Given the description of an element on the screen output the (x, y) to click on. 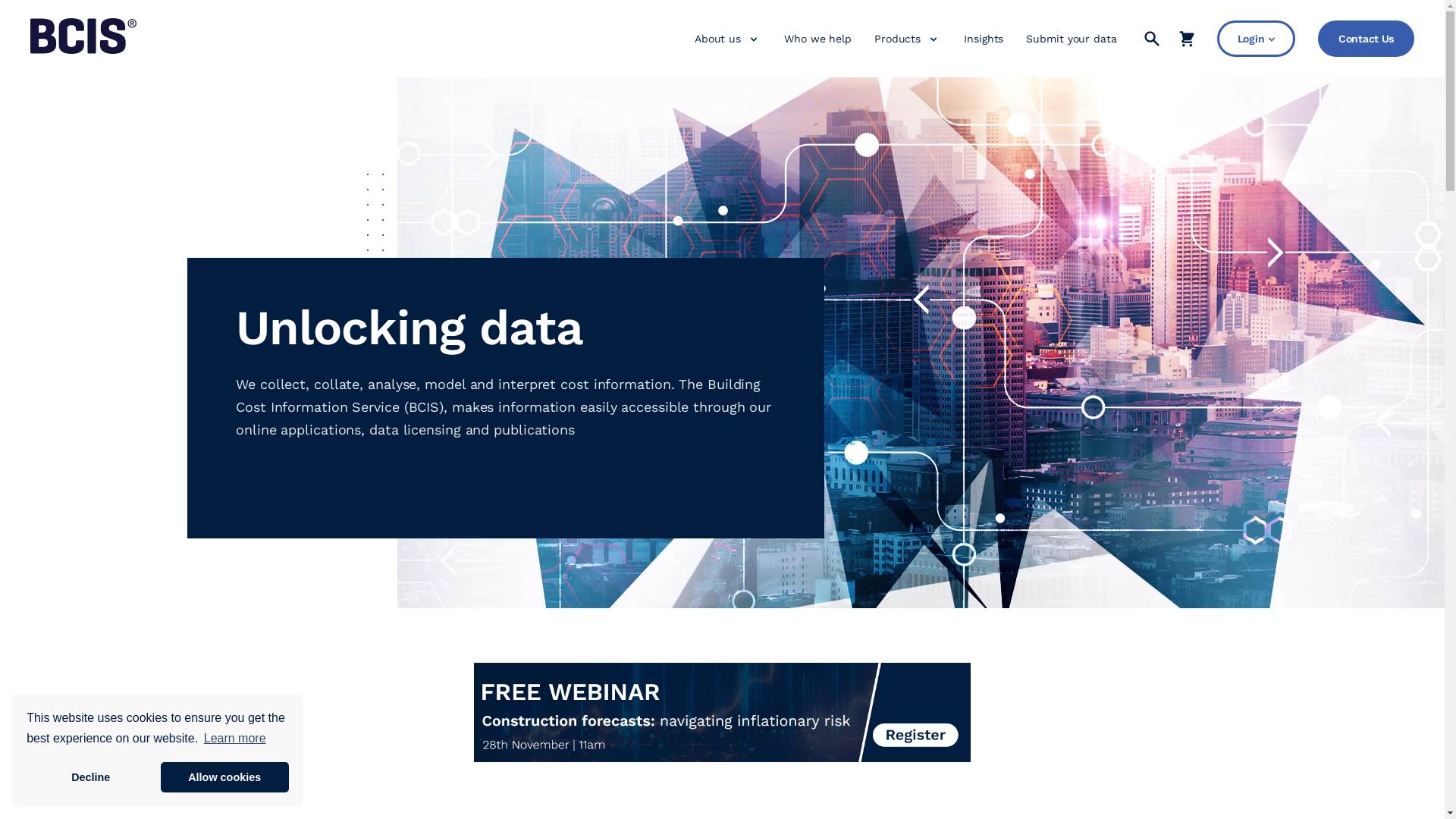
Decline Element type: text (90, 777)
Contact Us Element type: text (1365, 38)
Products Element type: text (897, 38)
Login Element type: text (1256, 38)
BCIS logo Element type: text (83, 49)
Who we help Element type: text (817, 38)
Insights Element type: text (983, 38)
About us Element type: text (717, 38)
Allow cookies Element type: text (224, 777)
Learn more Element type: text (234, 738)
Submit your data Element type: text (1071, 38)
